Given the description of an element on the screen output the (x, y) to click on. 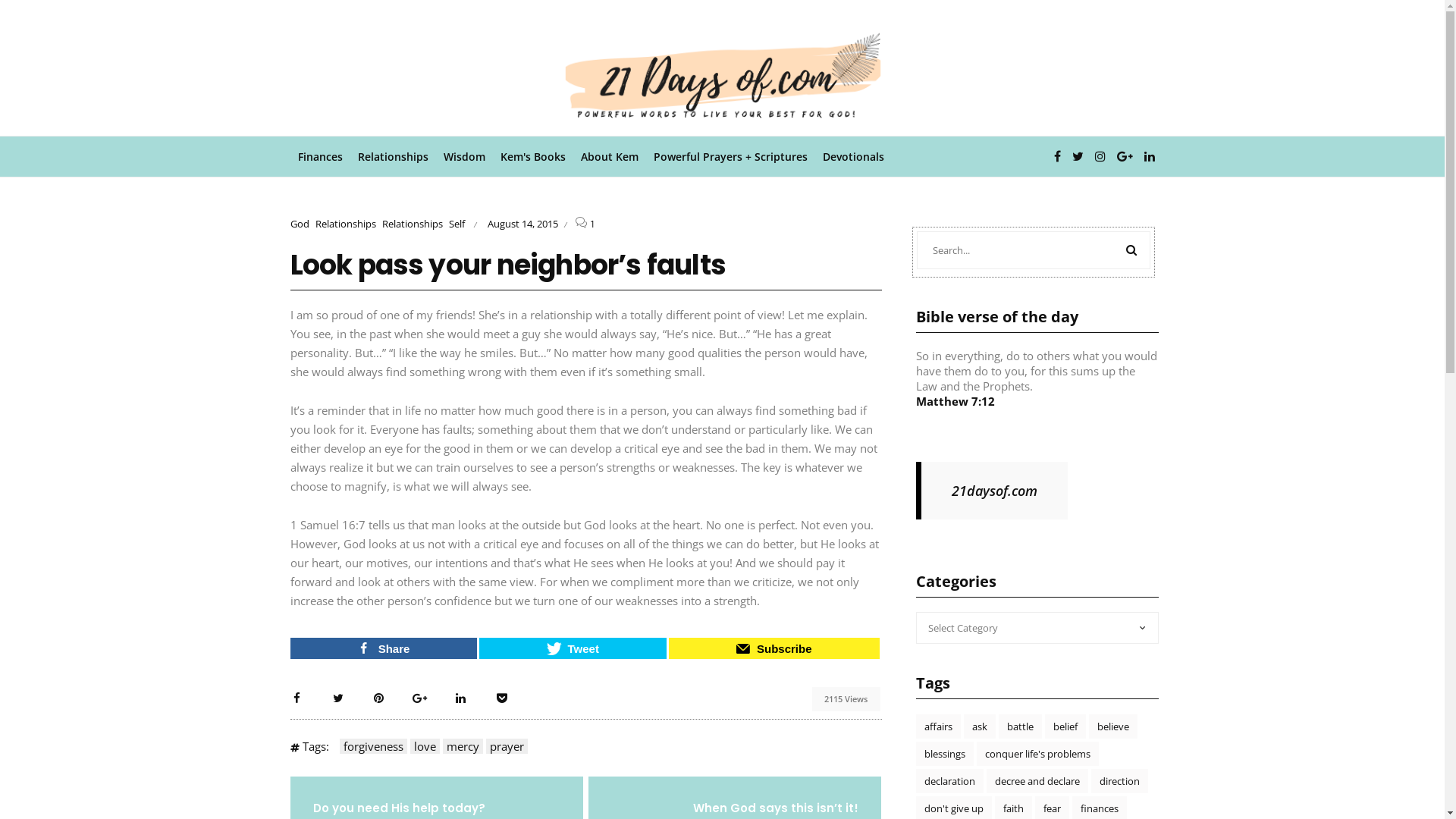
Subscribe Element type: text (773, 647)
God Element type: text (298, 223)
Matthew 7:12 Element type: text (955, 400)
ask Element type: text (978, 726)
Tweet Element type: text (572, 647)
blessings Element type: text (944, 753)
Finances Element type: text (319, 156)
About Kem Element type: text (609, 156)
belief Element type: text (1064, 726)
Share Element type: text (382, 647)
declaration Element type: text (949, 780)
mercy Element type: text (462, 745)
1 Element type: text (592, 223)
forgiveness Element type: text (373, 745)
prayer Element type: text (506, 745)
Self Element type: text (456, 223)
Relationships Element type: text (412, 223)
21daysof.com Element type: text (993, 490)
2115 Views Element type: text (846, 698)
affairs Element type: text (938, 726)
Relationships Element type: text (393, 156)
decree and declare Element type: text (1036, 780)
Kem's Books Element type: text (532, 156)
believe Element type: text (1112, 726)
direction Element type: text (1118, 780)
Wisdom Element type: text (463, 156)
Devotionals Element type: text (852, 156)
Powerful Prayers + Scriptures Element type: text (730, 156)
Relationships Element type: text (345, 223)
love Element type: text (424, 745)
conquer life's problems Element type: text (1037, 753)
battle Element type: text (1019, 726)
